Given the description of an element on the screen output the (x, y) to click on. 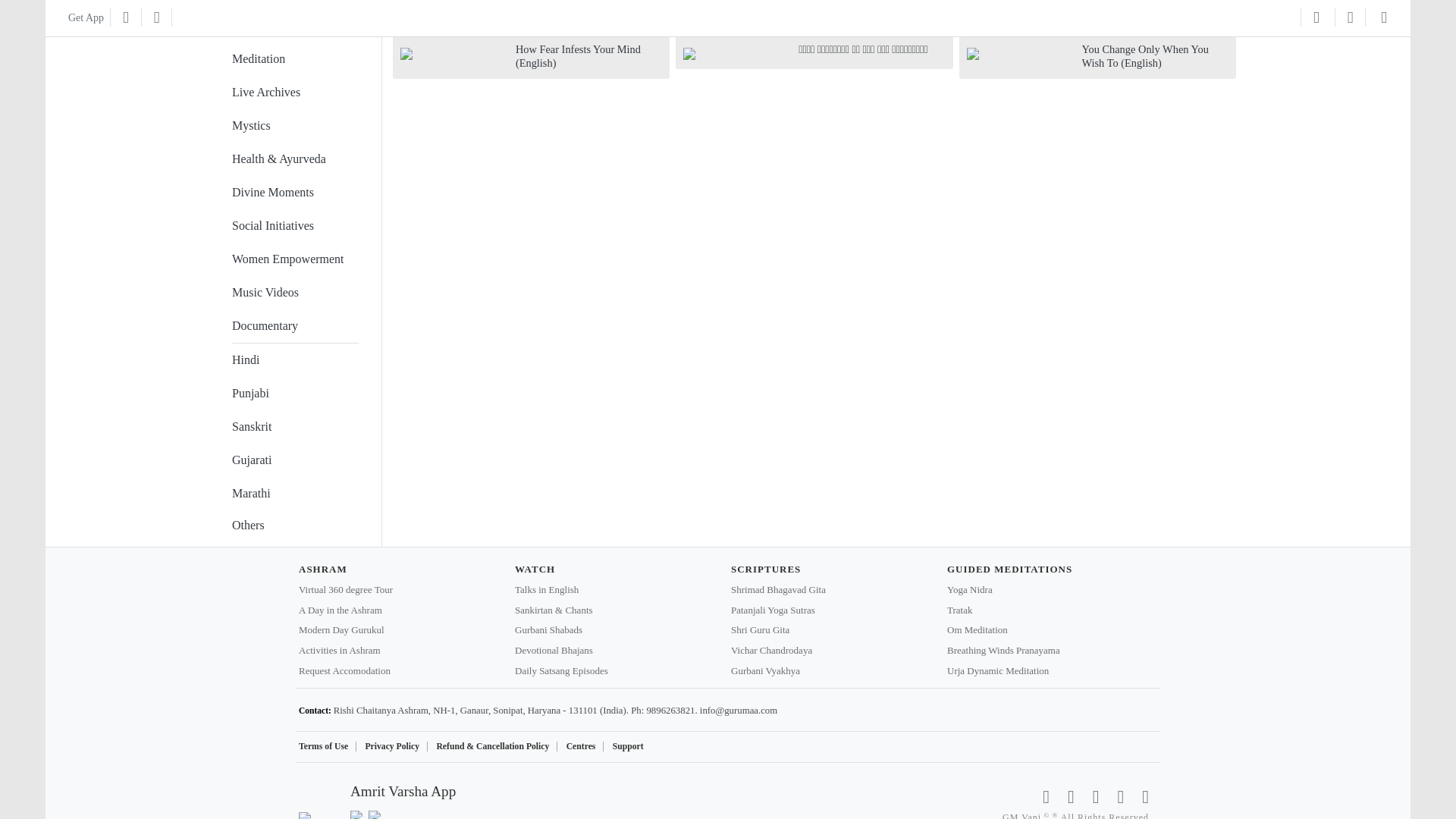
51 videos (294, 125)
16 videos (294, 225)
76 videos (294, 92)
38 videos (294, 192)
99 videos (294, 59)
13 videos (294, 259)
47 videos (294, 159)
103 videos (294, 21)
